Given the description of an element on the screen output the (x, y) to click on. 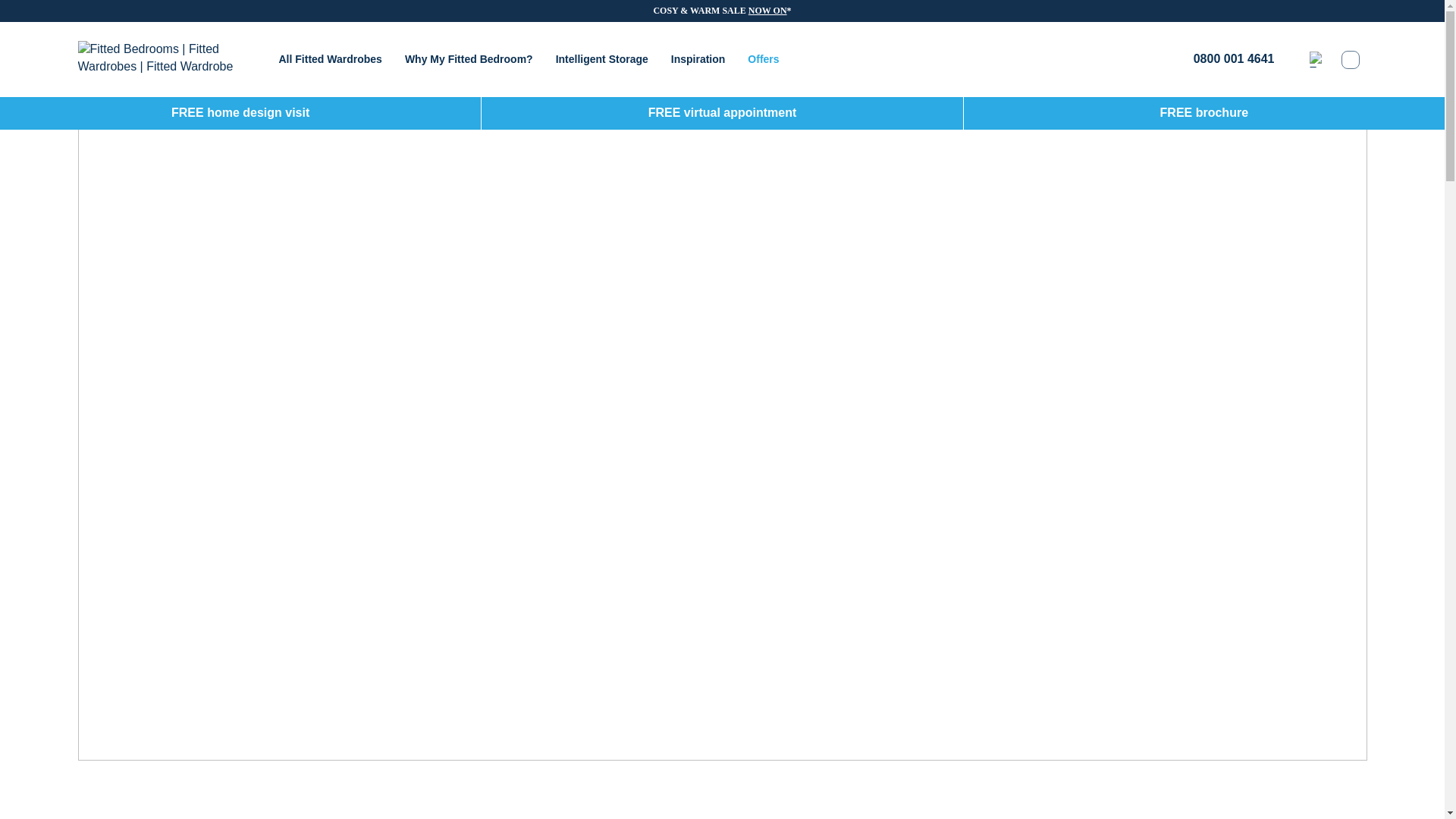
Offers (763, 59)
Why My Fitted Bedroom? (468, 59)
0800 001 4641 (1222, 58)
Inspiration (698, 59)
Intelligent Storage (601, 59)
All Fitted Wardrobes (330, 59)
